Given the description of an element on the screen output the (x, y) to click on. 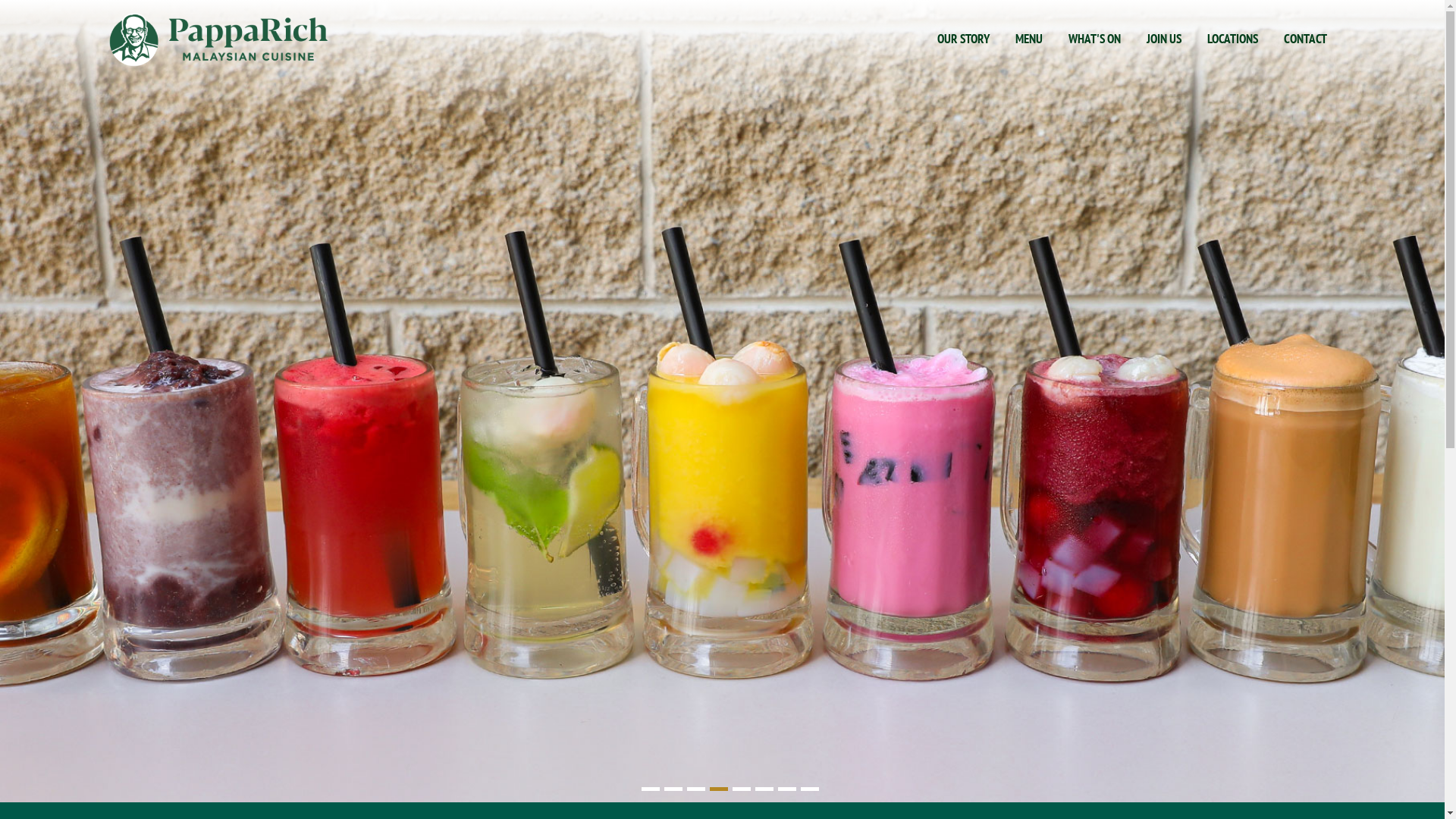
PappaRich Element type: hover (218, 39)
CONTACT Element type: text (1305, 38)
WHAT'S ON Element type: text (1094, 38)
JOIN US Element type: text (1164, 38)
OUR STORY Element type: text (963, 38)
LOCATIONS Element type: text (1232, 38)
MENU Element type: text (1028, 38)
